Given the description of an element on the screen output the (x, y) to click on. 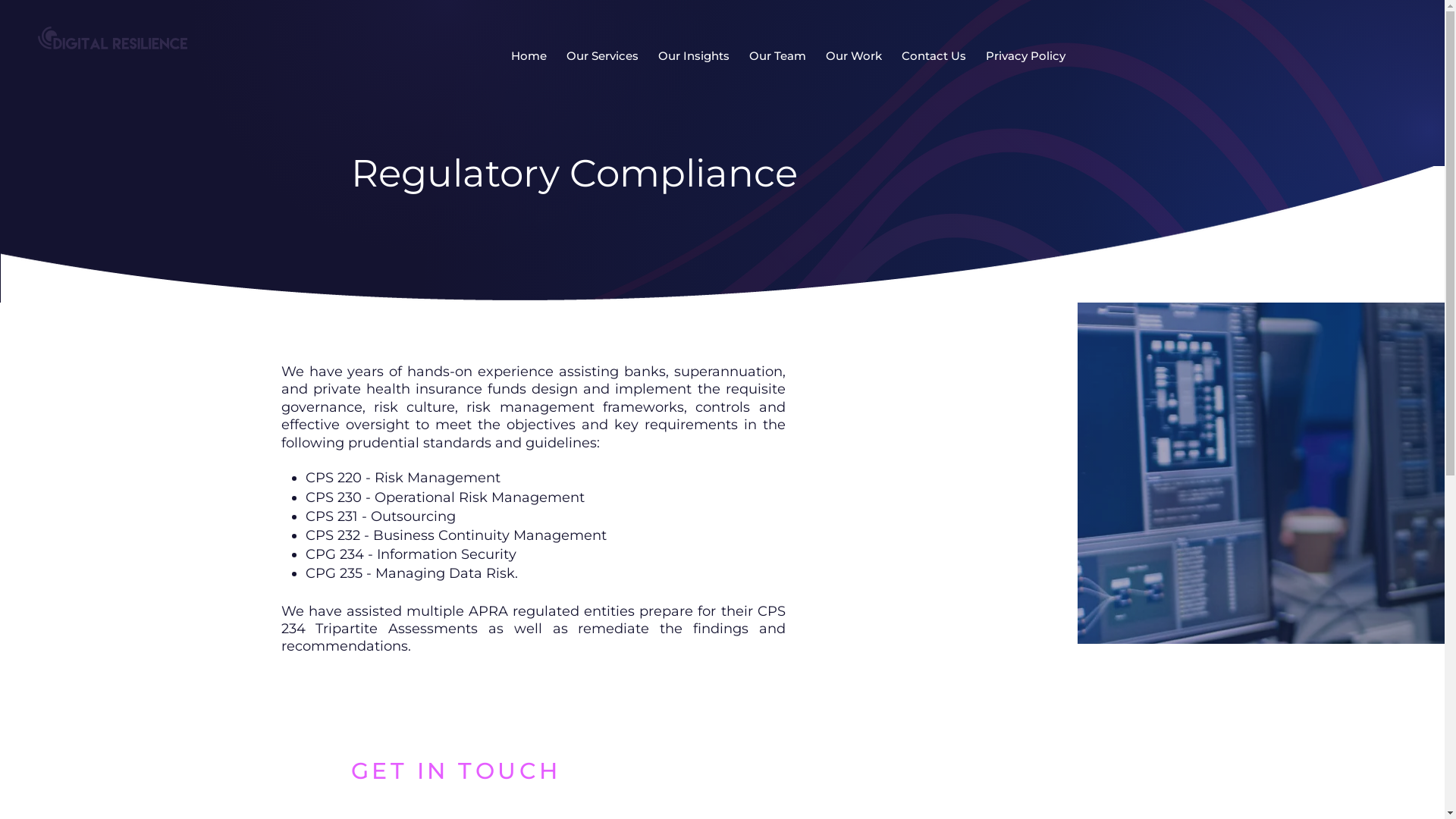
Home Element type: text (528, 54)
Our Insights Element type: text (693, 54)
Contact Us Element type: text (932, 54)
Our Work Element type: text (852, 54)
Our Team Element type: text (777, 54)
Our Services Element type: text (601, 54)
Privacy Policy Element type: text (1025, 54)
